Given the description of an element on the screen output the (x, y) to click on. 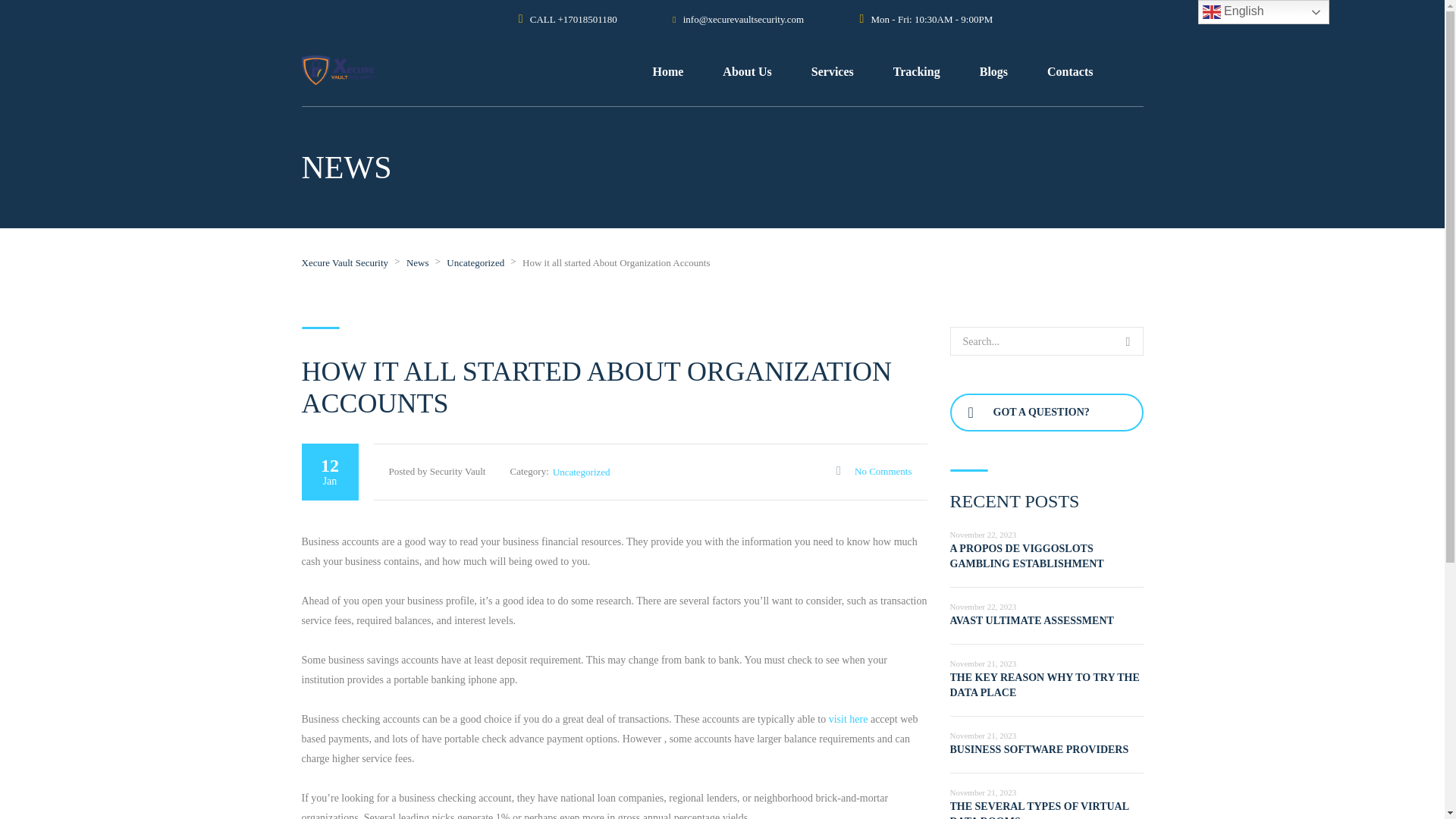
GOT A QUESTION? (1045, 412)
News (417, 262)
A PROPOS DE VIGGOSLOTS GAMBLING ESTABLISHMENT (1026, 555)
BUSINESS SOFTWARE PROVIDERS (1038, 749)
Go to Xecure Vault Security. (344, 262)
THE SEVERAL TYPES OF VIRTUAL DATA ROOMS (1038, 809)
Xecure Vault Security (344, 262)
AVAST ULTIMATE ASSESSMENT (1031, 620)
Go to News. (417, 262)
visit here (847, 718)
